Given the description of an element on the screen output the (x, y) to click on. 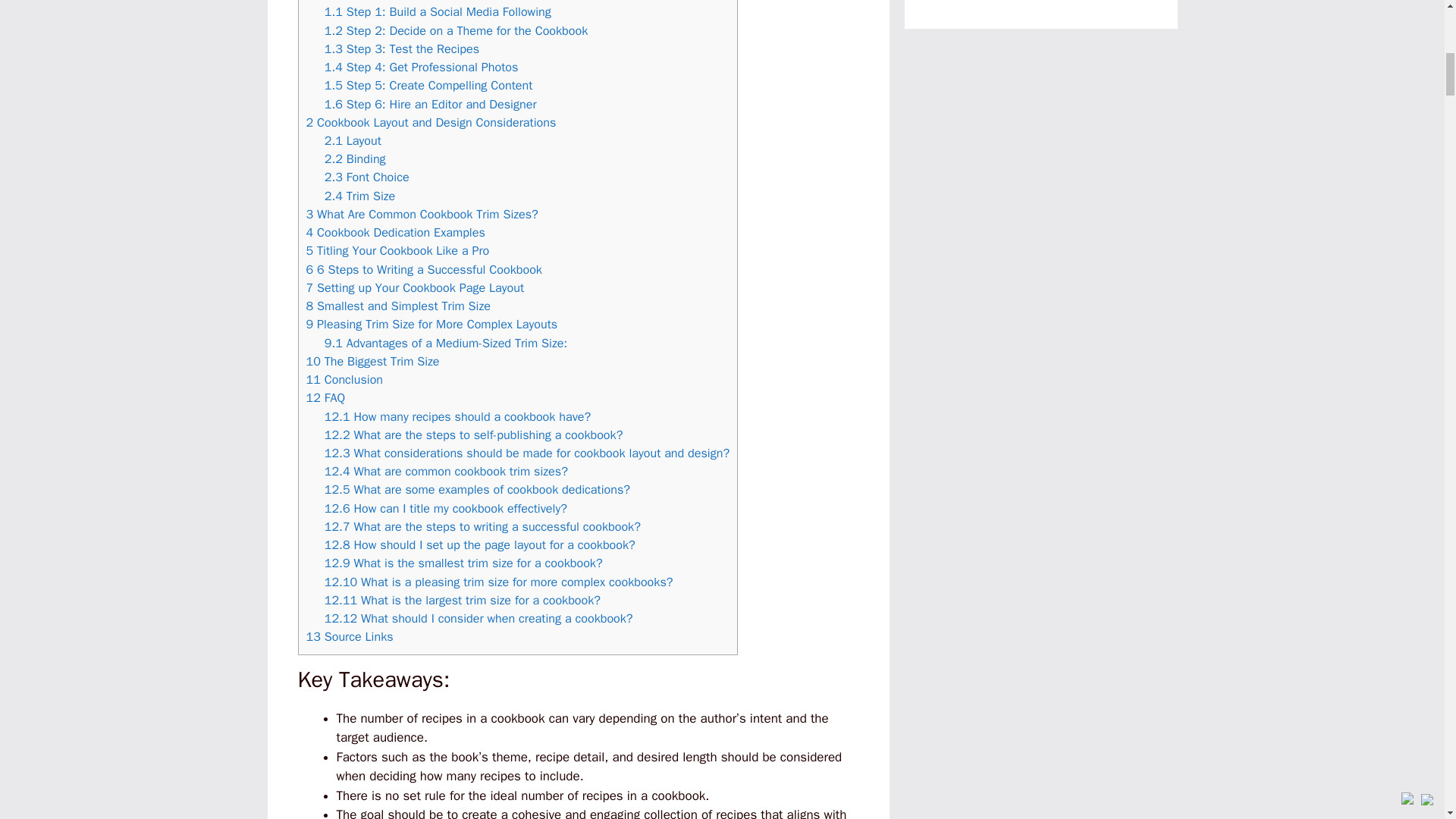
2.3 Font Choice (366, 176)
1.6 Step 6: Hire an Editor and Designer (430, 104)
9.1 Advantages of a Medium-Sized Trim Size: (445, 342)
8 Smallest and Simplest Trim Size (397, 305)
2.1 Layout (352, 140)
3 What Are Common Cookbook Trim Sizes? (421, 213)
12.2 What are the steps to self-publishing a cookbook? (473, 434)
6 6 Steps to Writing a Successful Cookbook (423, 269)
5 Titling Your Cookbook Like a Pro (397, 250)
